Given the description of an element on the screen output the (x, y) to click on. 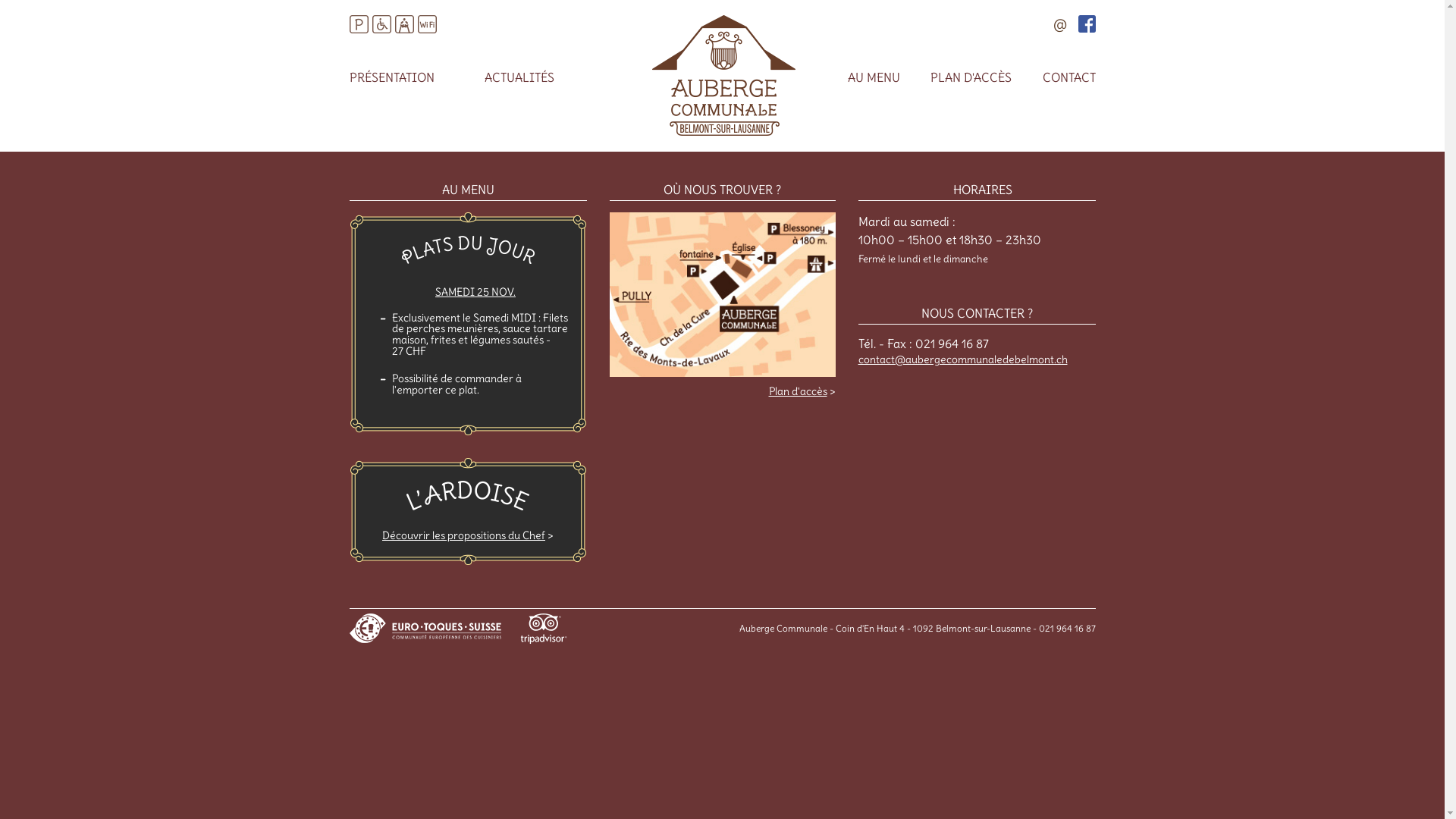
contact@aubergecommunaledebelmont.ch Element type: text (962, 359)
CONTACT Element type: text (1068, 76)
AU MENU Element type: text (873, 76)
@ Element type: text (1059, 24)
Accueil Element type: hover (724, 130)
Suivez-nous sur Facebook Element type: hover (1086, 23)
